Given the description of an element on the screen output the (x, y) to click on. 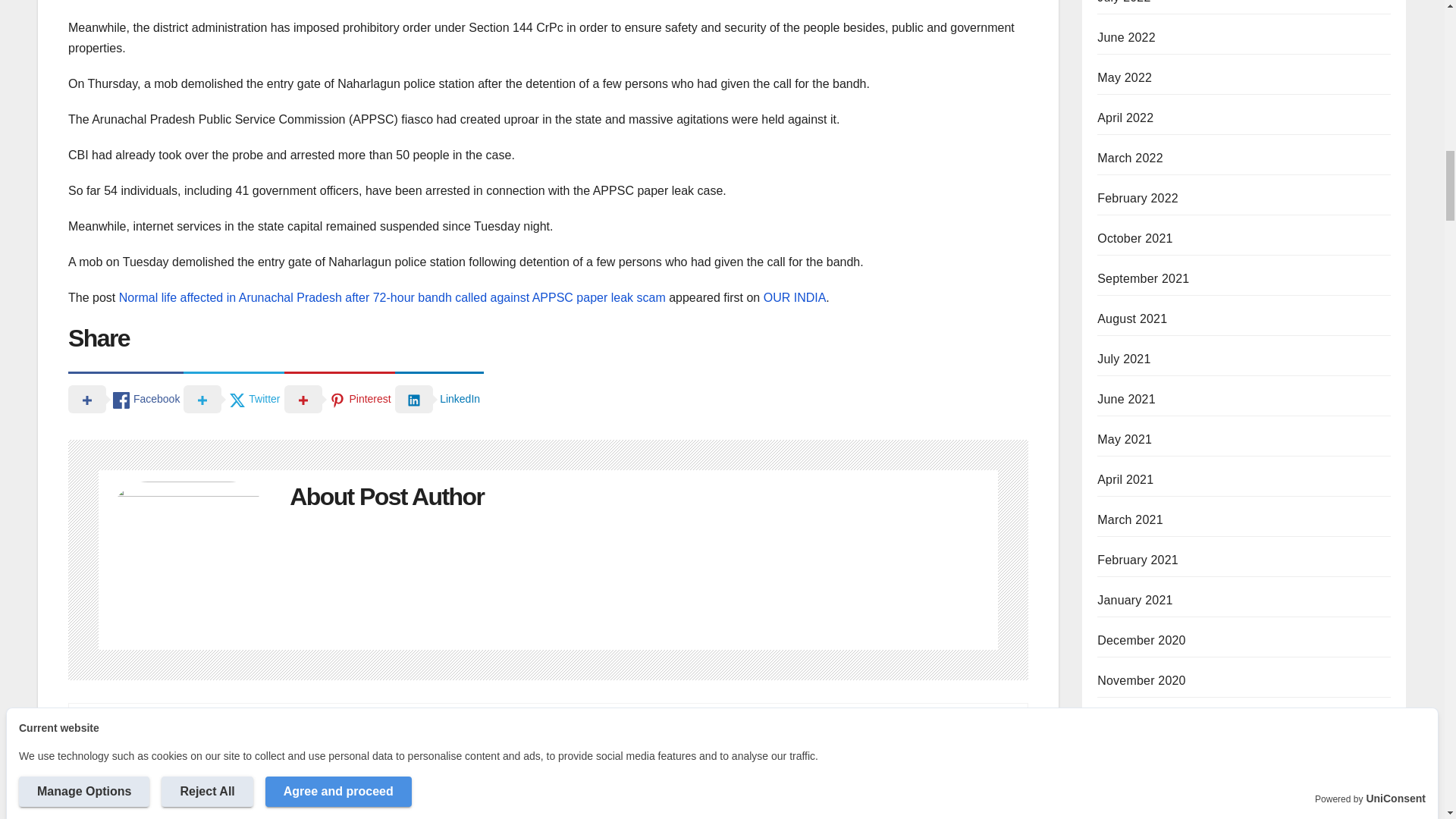
Twitter (233, 398)
Pinterest (338, 398)
Facebook (125, 398)
OUR INDIA (794, 297)
LinkedIn (438, 398)
